Given the description of an element on the screen output the (x, y) to click on. 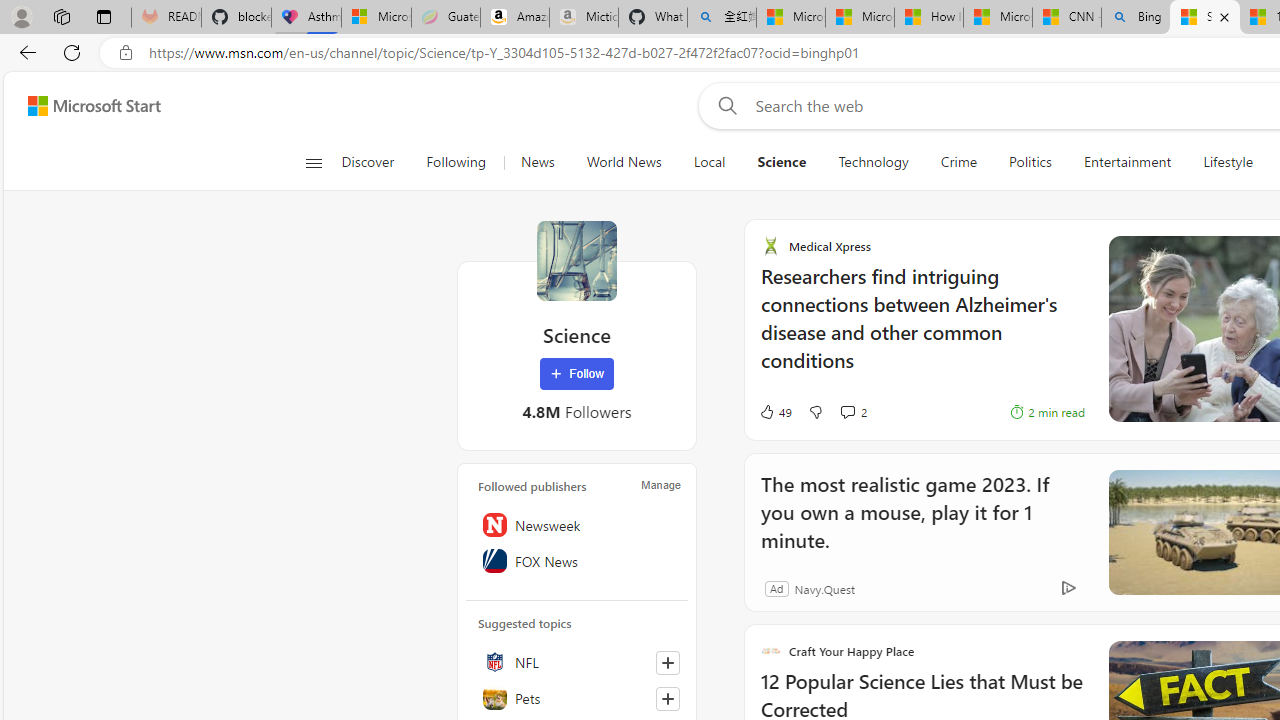
Politics (1030, 162)
How I Got Rid of Microsoft Edge's Unnecessary Features (928, 17)
Science (782, 162)
CNN - MSN (1066, 17)
Bing (1135, 17)
Lifestyle (1228, 162)
Pets (577, 697)
Asthma Inhalers: Names and Types (305, 17)
Science - MSN (1205, 17)
Lifestyle (1227, 162)
